Given the description of an element on the screen output the (x, y) to click on. 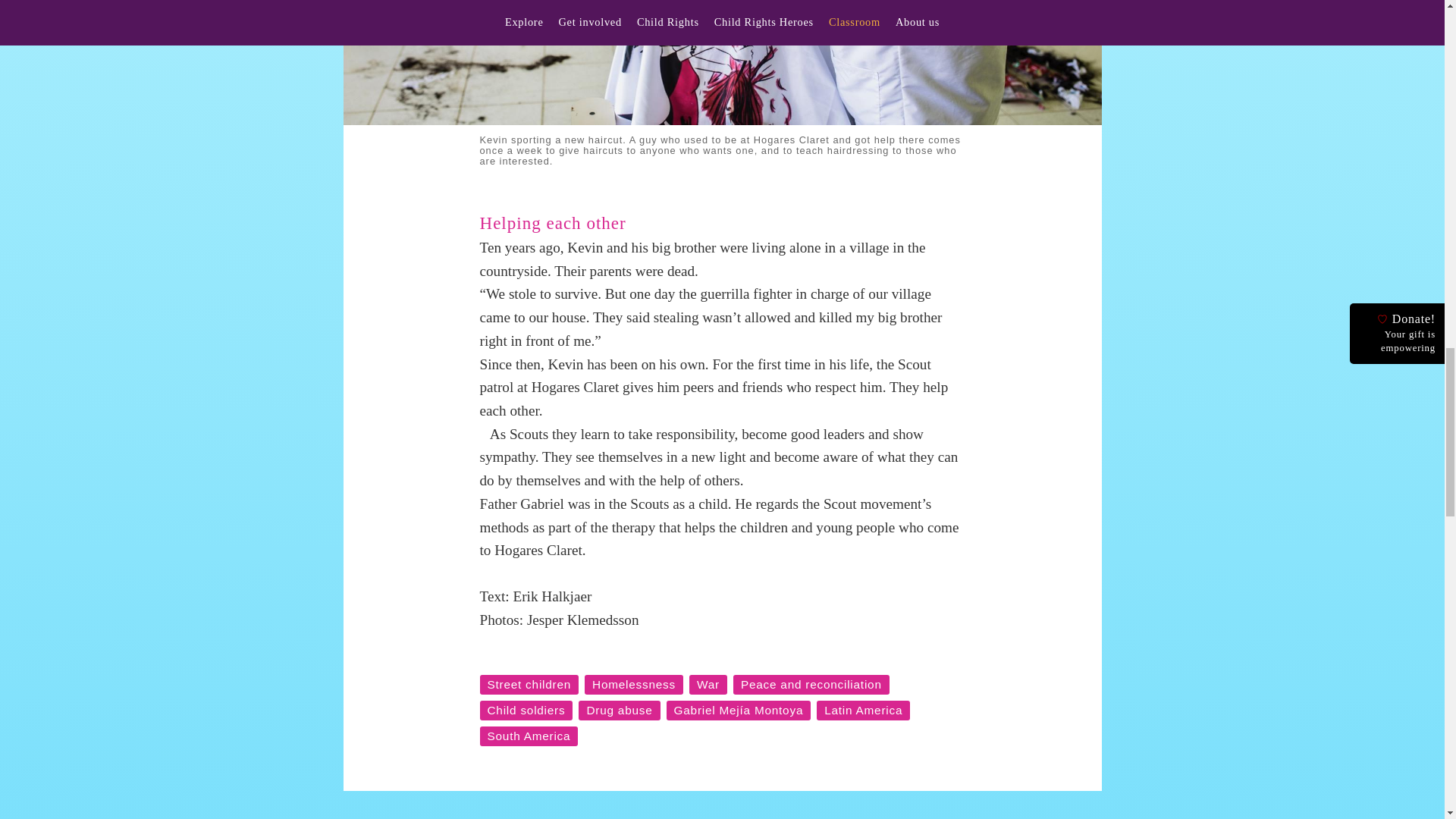
Peace and reconciliation (811, 684)
Latin America (863, 710)
Homelessness (633, 684)
Child soldiers (525, 710)
Drug abuse (618, 710)
South America (528, 736)
Street children (528, 684)
War (707, 684)
